Given the description of an element on the screen output the (x, y) to click on. 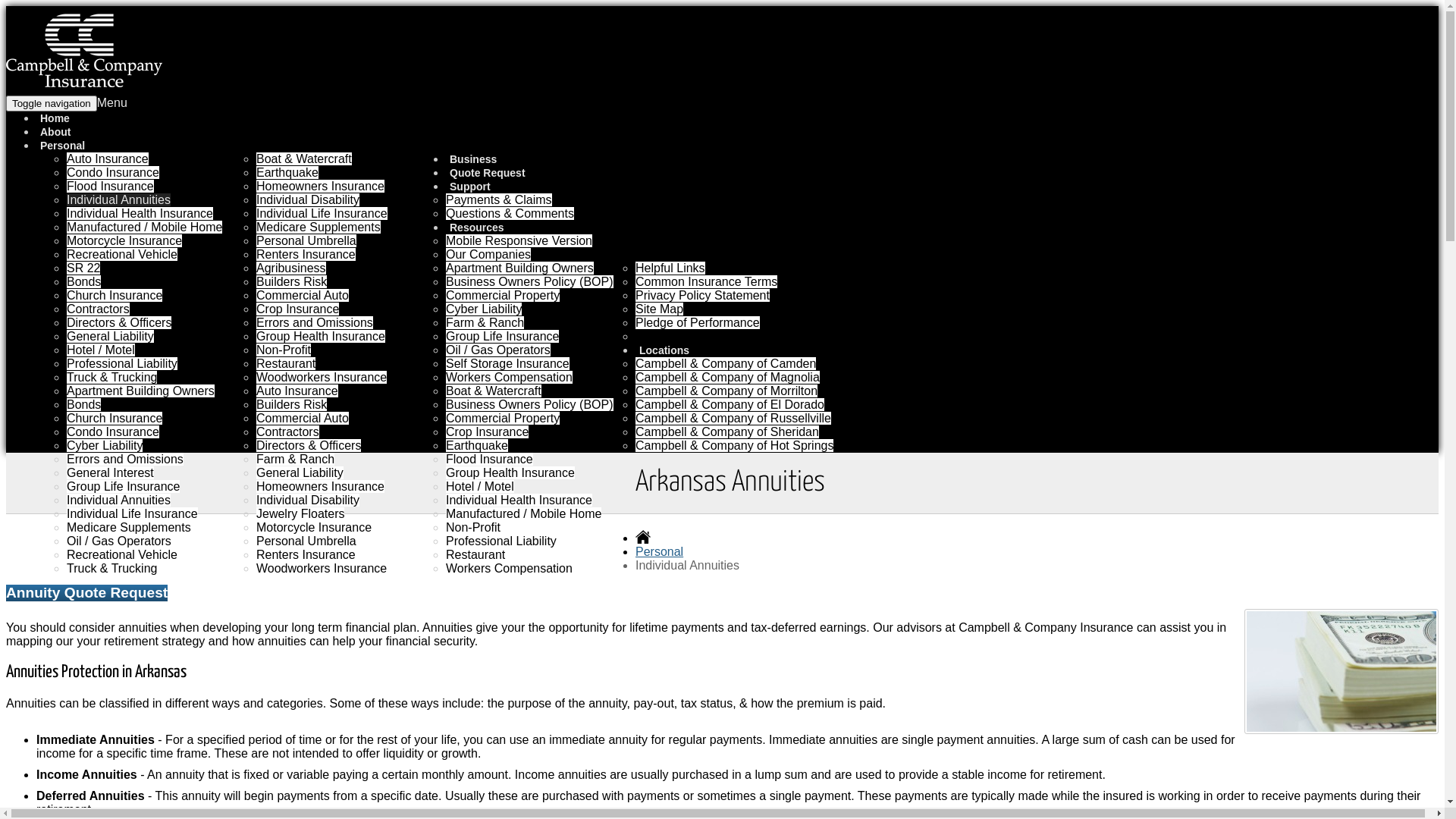
Personal Umbrella Element type: text (306, 540)
Annuity Quote Request Element type: text (86, 592)
Motorcycle Insurance Element type: text (124, 240)
Request a Quote! Element type: text (1388, 101)
Non-Profit Element type: text (283, 349)
Individual Life Insurance Element type: text (321, 213)
Personal Element type: text (63, 145)
Jewelry Floaters Element type: text (300, 513)
Cyber Liability Element type: text (483, 308)
Individual Health Insurance Element type: text (139, 213)
Personal Element type: text (659, 551)
Crop Insurance Element type: text (297, 308)
Workers Compensation Element type: text (508, 567)
Restaurant Element type: text (475, 554)
Builders Risk Element type: text (291, 281)
Commercial Property Element type: text (502, 417)
Questions & Comments Element type: text (509, 213)
Business Owners Policy (BOP) Element type: text (529, 281)
Church Insurance Element type: text (114, 294)
General Liability Element type: text (299, 472)
Menu Element type: text (112, 102)
Individual Health Insurance Element type: text (518, 499)
General Interest Element type: text (109, 472)
Manufactured / Mobile Home Element type: text (144, 226)
Home Element type: text (54, 117)
Group Health Insurance Element type: text (320, 335)
SR 22 Element type: text (83, 267)
Flood Insurance Element type: text (489, 458)
Renters Insurance Element type: text (305, 554)
Recreational Vehicle Element type: text (121, 554)
Group Health Insurance Element type: text (509, 472)
Personal Umbrella Element type: text (306, 240)
Contractors Element type: text (287, 431)
Commercial Property Element type: text (502, 294)
Farm & Ranch Element type: text (295, 458)
General Liability Element type: text (109, 335)
Common Insurance Terms Element type: text (706, 281)
Self Storage Insurance Element type: text (507, 363)
Errors and Omissions Element type: text (124, 458)
Agribusiness Element type: text (291, 267)
Oil / Gas Operators Element type: text (118, 540)
Woodworkers Insurance Element type: text (321, 567)
Contractors Element type: text (97, 308)
Homeowners Insurance Element type: text (320, 185)
Individual Disability Element type: text (307, 499)
Commercial Auto Element type: text (302, 417)
Individual Annuities Element type: text (118, 199)
Church Insurance Element type: text (114, 417)
Directors & Officers Element type: text (308, 445)
Medicare Supplements Element type: text (318, 226)
Group Life Insurance Element type: text (501, 335)
Oil / Gas Operators Element type: text (497, 349)
Campbell & Company of Magnolia Element type: text (727, 376)
Resources Element type: text (477, 227)
Pledge of Performance Element type: text (697, 322)
Business Owners Policy (BOP) Element type: text (529, 404)
Mobile Responsive Version Element type: text (518, 240)
About Element type: text (55, 131)
Manufactured / Mobile Home Element type: text (523, 513)
Apartment Building Owners Element type: text (519, 267)
Campbell & Company of Hot Springs Element type: text (734, 445)
Campbell & Company of Morrilton Element type: text (726, 390)
Flood Insurance Element type: text (109, 185)
Bonds Element type: text (83, 404)
Auto Insurance Element type: text (297, 390)
Boat & Watercraft Element type: text (493, 390)
Homeowners Insurance Element type: text (320, 486)
Condo Insurance Element type: text (112, 172)
Campbell & Company of Sheridan Element type: text (727, 431)
Payments & Claims Element type: text (498, 199)
Hotel / Motel Element type: text (100, 349)
Auto Insurance Element type: text (107, 158)
Quote Request Element type: text (488, 172)
Commercial Auto Element type: text (302, 294)
Crop Insurance Element type: text (486, 431)
Support Element type: text (471, 186)
Professional Liability Element type: text (500, 540)
Hotel / Motel Element type: text (479, 486)
Truck & Trucking Element type: text (111, 376)
Earthquake Element type: text (287, 172)
Medicare Supplements Element type: text (128, 526)
Campbell & Company of Camden Element type: text (725, 363)
Workers Compensation Element type: text (508, 376)
Toggle navigation Element type: text (51, 103)
Group Life Insurance Element type: text (122, 486)
Individual Disability Element type: text (307, 199)
Recreational Vehicle Element type: text (121, 253)
Cyber Liability Element type: text (104, 445)
Non-Profit Element type: text (472, 526)
Campbell & Company of Russellville Element type: text (733, 417)
Professional Liability Element type: text (121, 363)
Restaurant Element type: text (285, 363)
870-836-5724 Element type: text (1239, 117)
Helpful Links Element type: text (670, 267)
Boat & Watercraft Element type: text (303, 158)
Apartment Building Owners Element type: text (140, 390)
Condo Insurance Element type: text (112, 431)
Individual Annuities Element type: text (118, 499)
Individual Life Insurance Element type: text (131, 513)
Campbell & Company of El Dorado Element type: text (729, 404)
Errors and Omissions Element type: text (314, 322)
Bonds Element type: text (83, 281)
Farm & Ranch Element type: text (484, 322)
Woodworkers Insurance Element type: text (321, 376)
Earthquake Element type: text (476, 445)
Renters Insurance Element type: text (305, 253)
Motorcycle Insurance Element type: text (313, 526)
Business Element type: text (474, 158)
Our Companies Element type: text (487, 253)
Builders Risk Element type: text (291, 404)
Site Map Element type: text (659, 308)
Locations Element type: text (665, 349)
Directors & Officers Element type: text (118, 322)
Privacy Policy Statement Element type: text (702, 294)
Truck & Trucking Element type: text (111, 567)
